Given the description of an element on the screen output the (x, y) to click on. 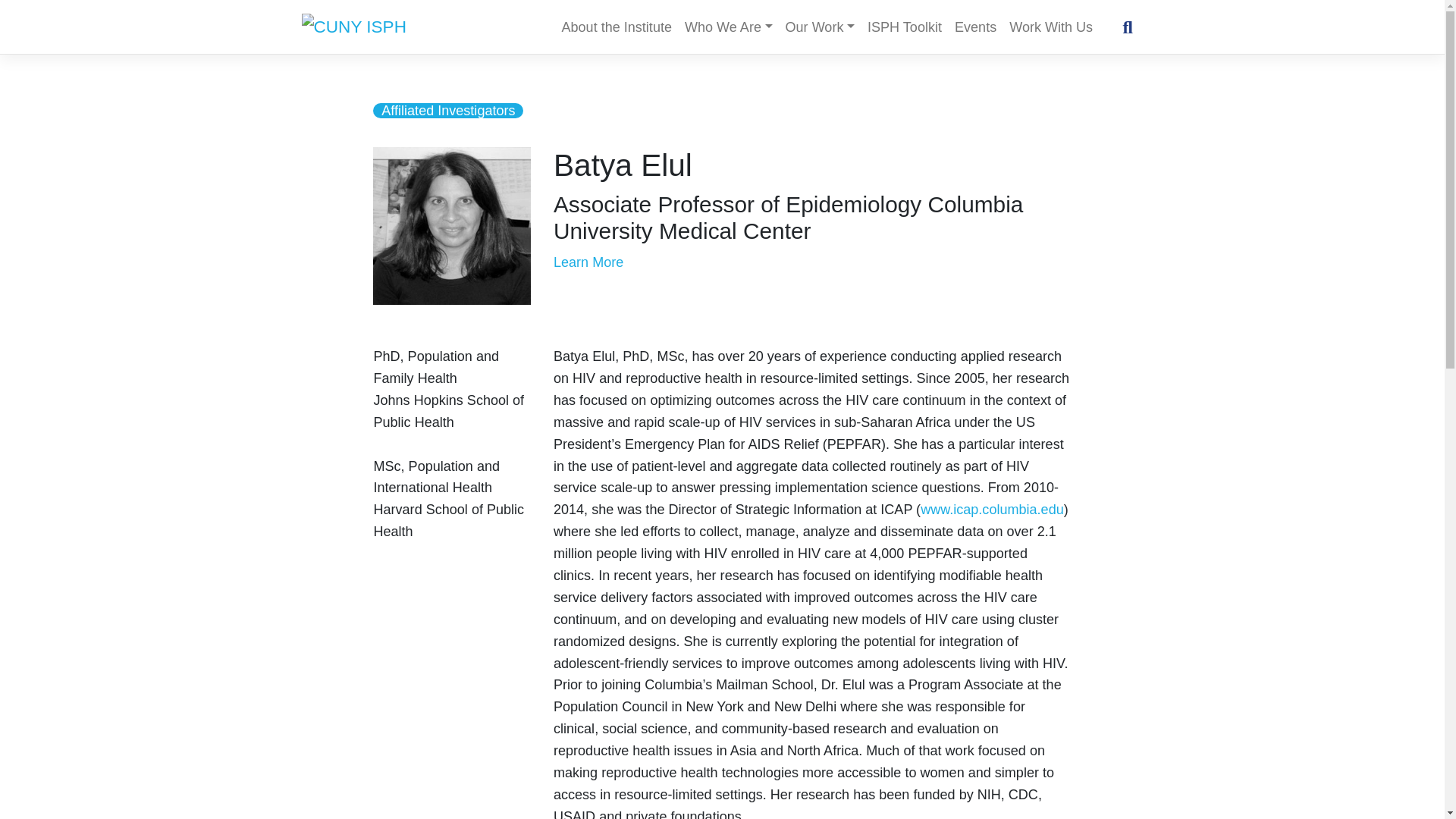
www.icap.columbia.edu (992, 509)
Learn More (588, 262)
Who We Are (728, 27)
Events (975, 27)
Our Work (819, 27)
Who We Are (728, 27)
About the Institute (616, 27)
ISPH Toolkit (905, 27)
Work With Us (1051, 27)
ISPH Toolkit (905, 27)
Events (975, 27)
Affiliated Investigators (447, 110)
Work With Us (1051, 27)
About the Institute (616, 27)
Our Work (819, 27)
